Given the description of an element on the screen output the (x, y) to click on. 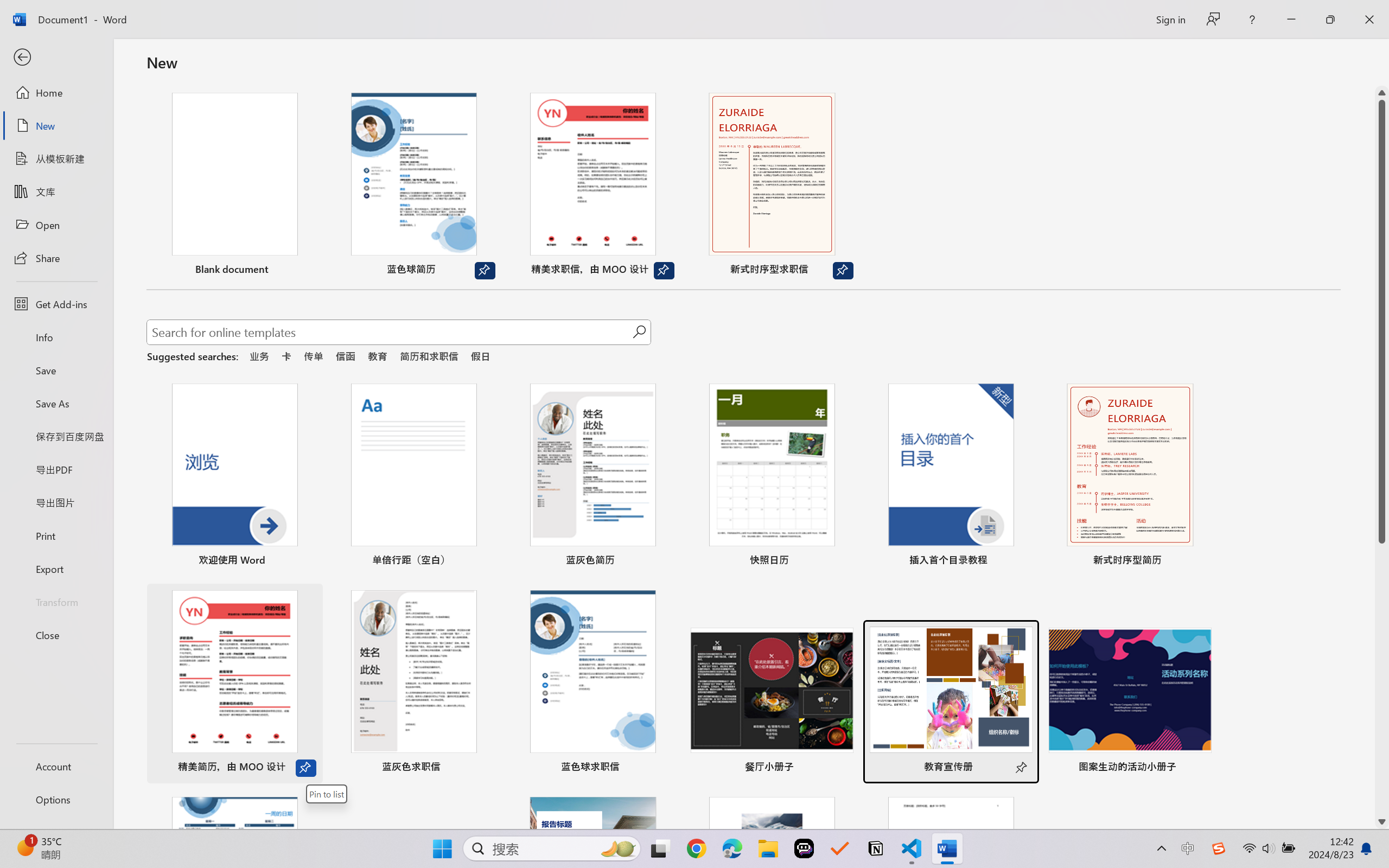
Back (56, 57)
Pin to list (1200, 767)
Account (56, 765)
Get Add-ins (56, 303)
